Given the description of an element on the screen output the (x, y) to click on. 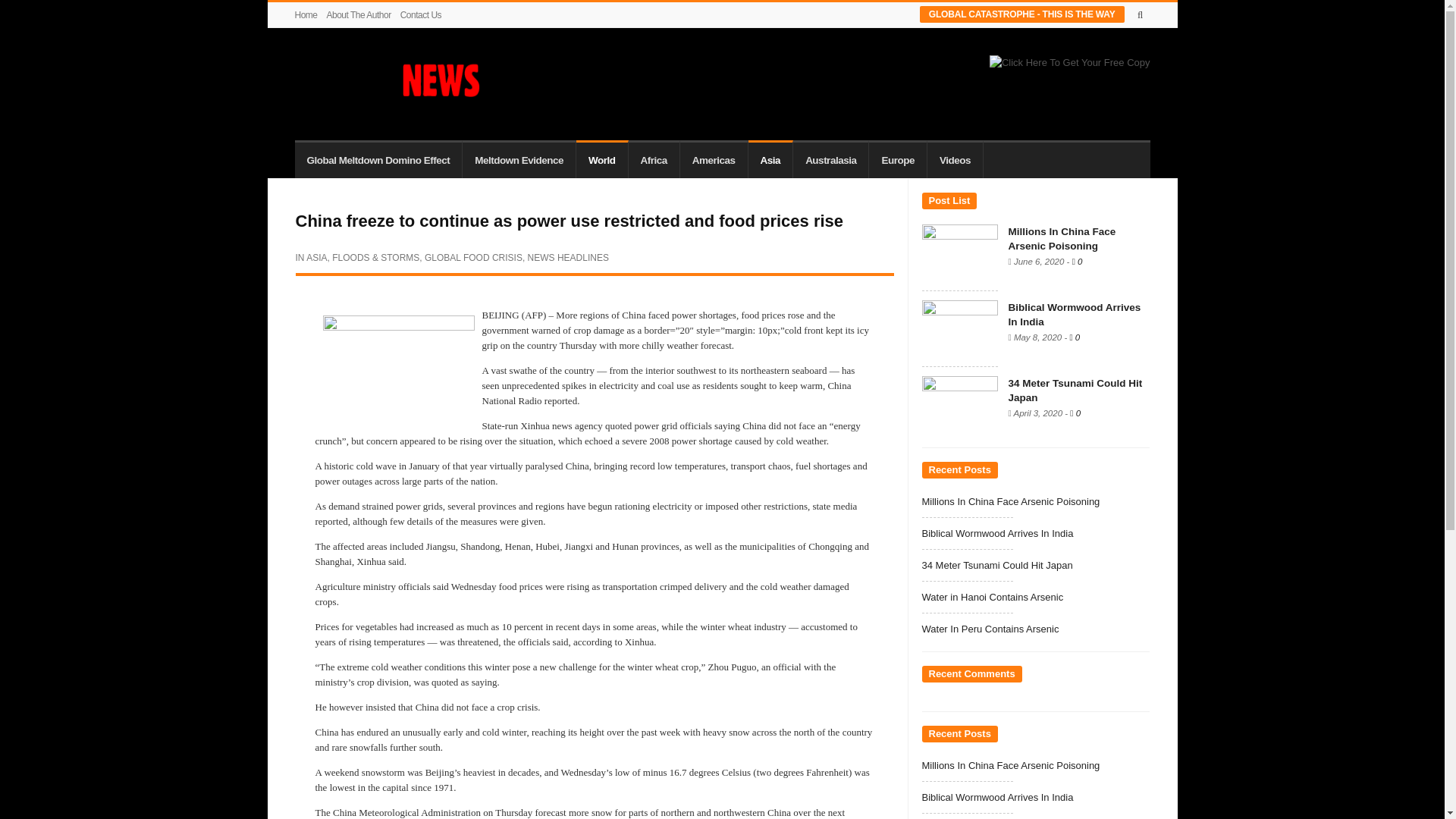
Test Site (387, 79)
Contact Us (420, 14)
About The Author (358, 14)
Home (307, 14)
Global Meltdown Domino Effect (378, 159)
Asia (770, 159)
Americas (713, 159)
Meltdown Evidence (519, 159)
Australasia (831, 159)
World (602, 159)
